Given the description of an element on the screen output the (x, y) to click on. 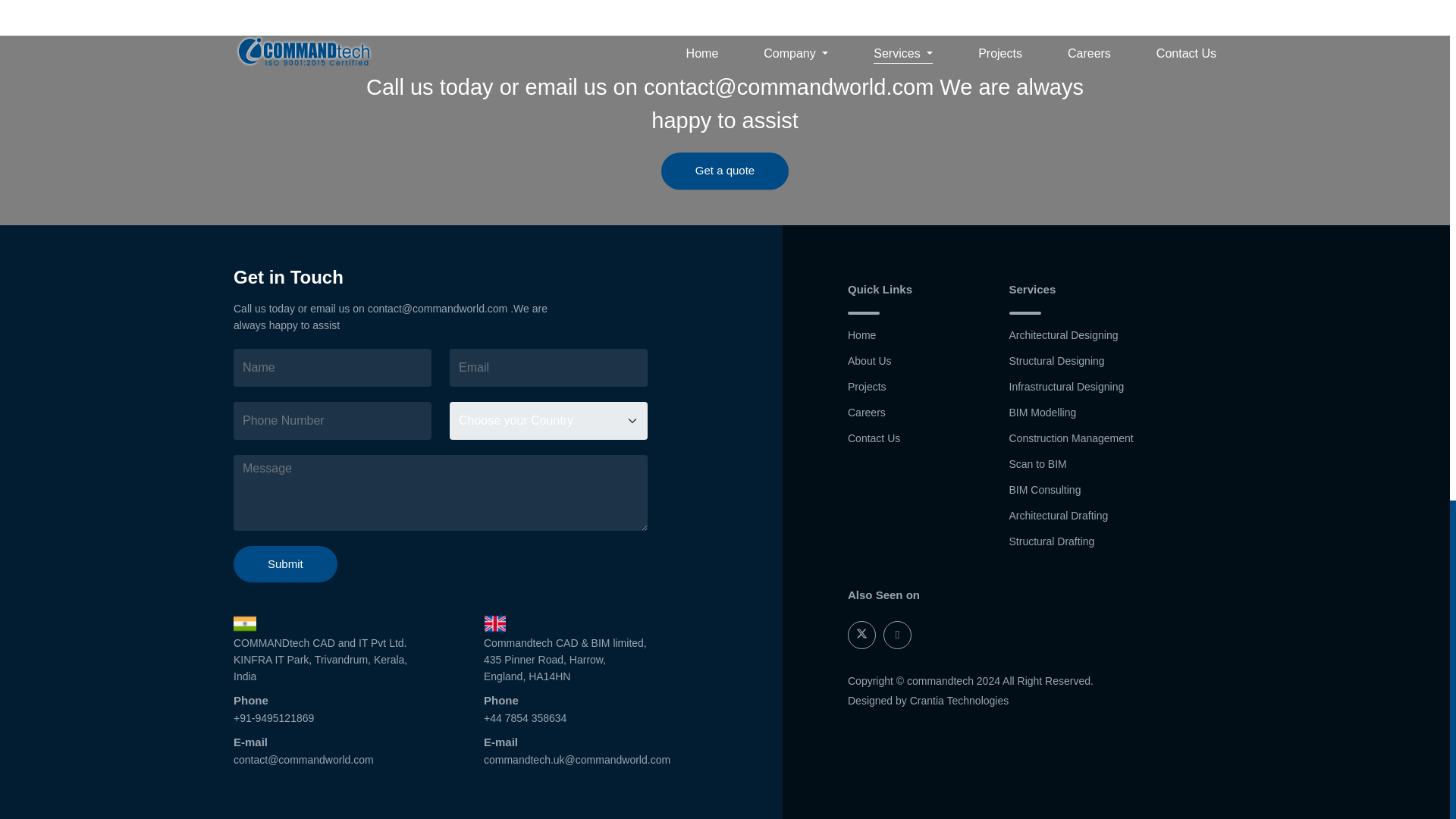
Submit (284, 564)
